Given the description of an element on the screen output the (x, y) to click on. 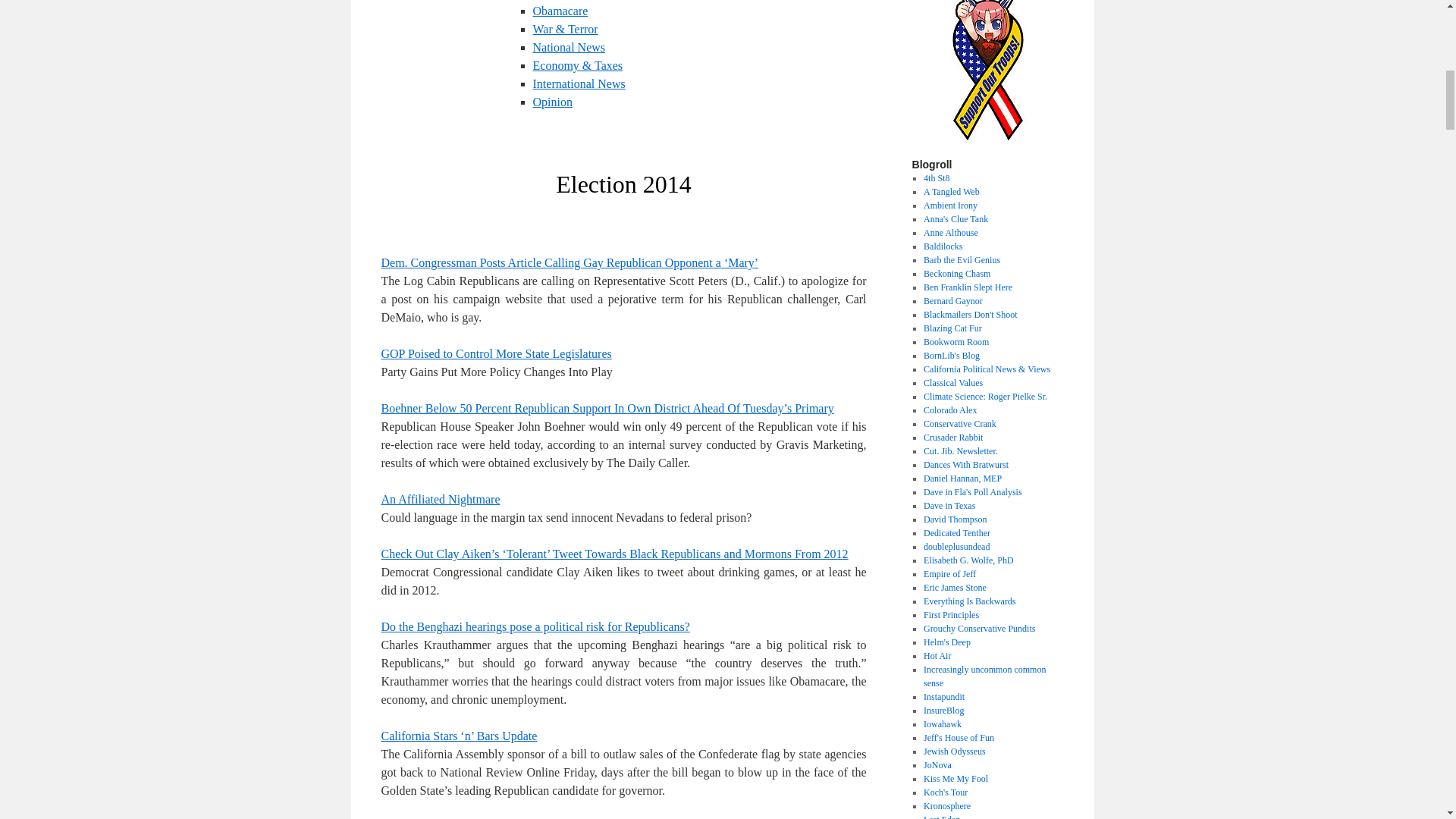
An Affiliated Nightmare (439, 499)
Member of the Funny Name Club (942, 245)
National News (568, 47)
Obamacare (560, 10)
GOP Poised to Control More State Legislatures (495, 353)
Anne Althouse (950, 232)
International News (578, 83)
Opinion (552, 101)
